Given the description of an element on the screen output the (x, y) to click on. 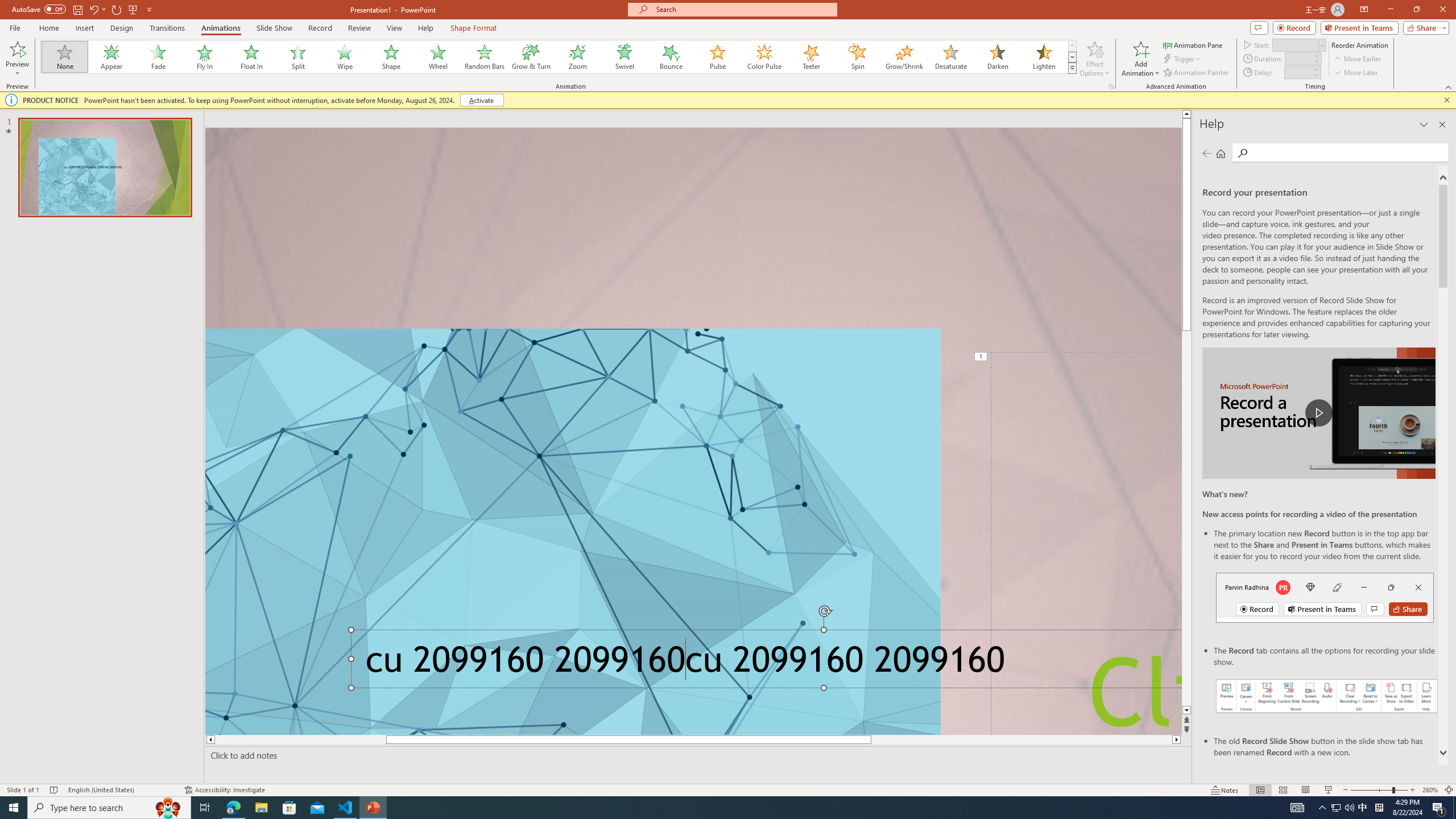
Float In (251, 56)
Split (298, 56)
Wheel (437, 56)
Appear (111, 56)
Fade (158, 56)
Close this message (1446, 99)
Wipe (344, 56)
Effect Options (1094, 58)
